Given the description of an element on the screen output the (x, y) to click on. 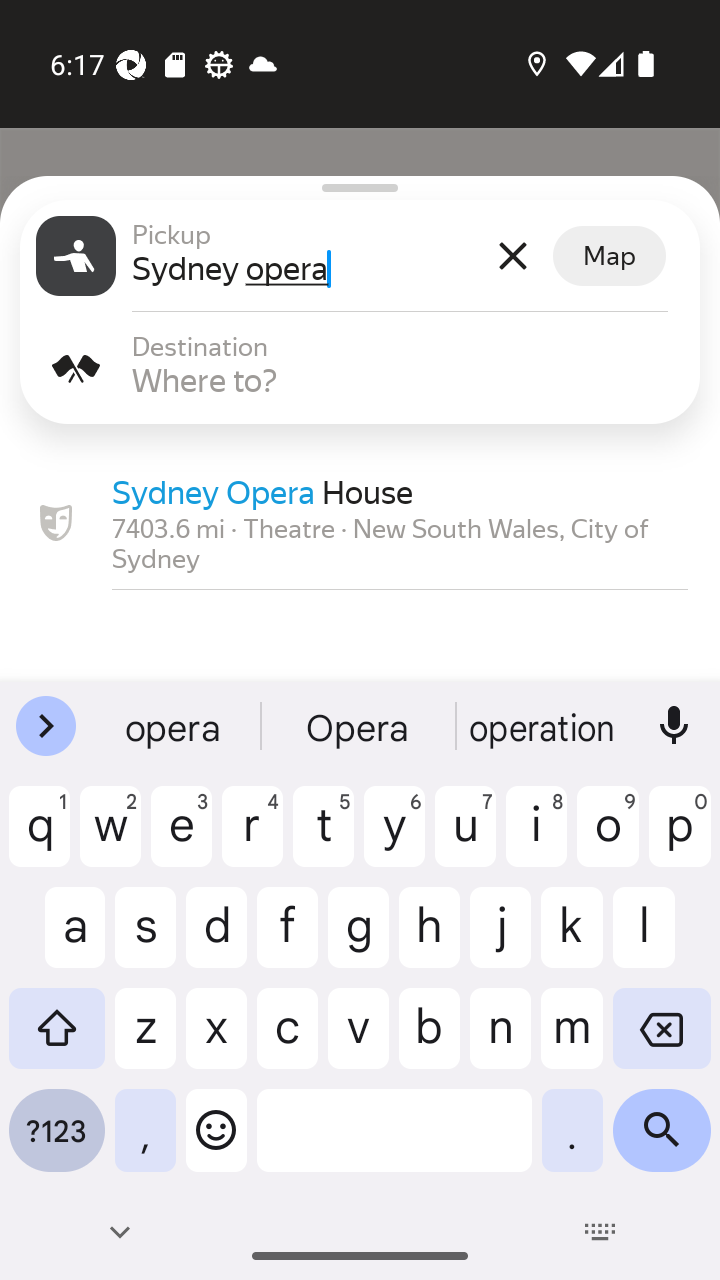
Pickup Pickup Sydney opera Clear text box Map (359, 255)
Map (609, 256)
Clear text box (512, 255)
Sydney opera (307, 268)
Destination Destination Where to? (359, 367)
Where to? (407, 380)
